Given the description of an element on the screen output the (x, y) to click on. 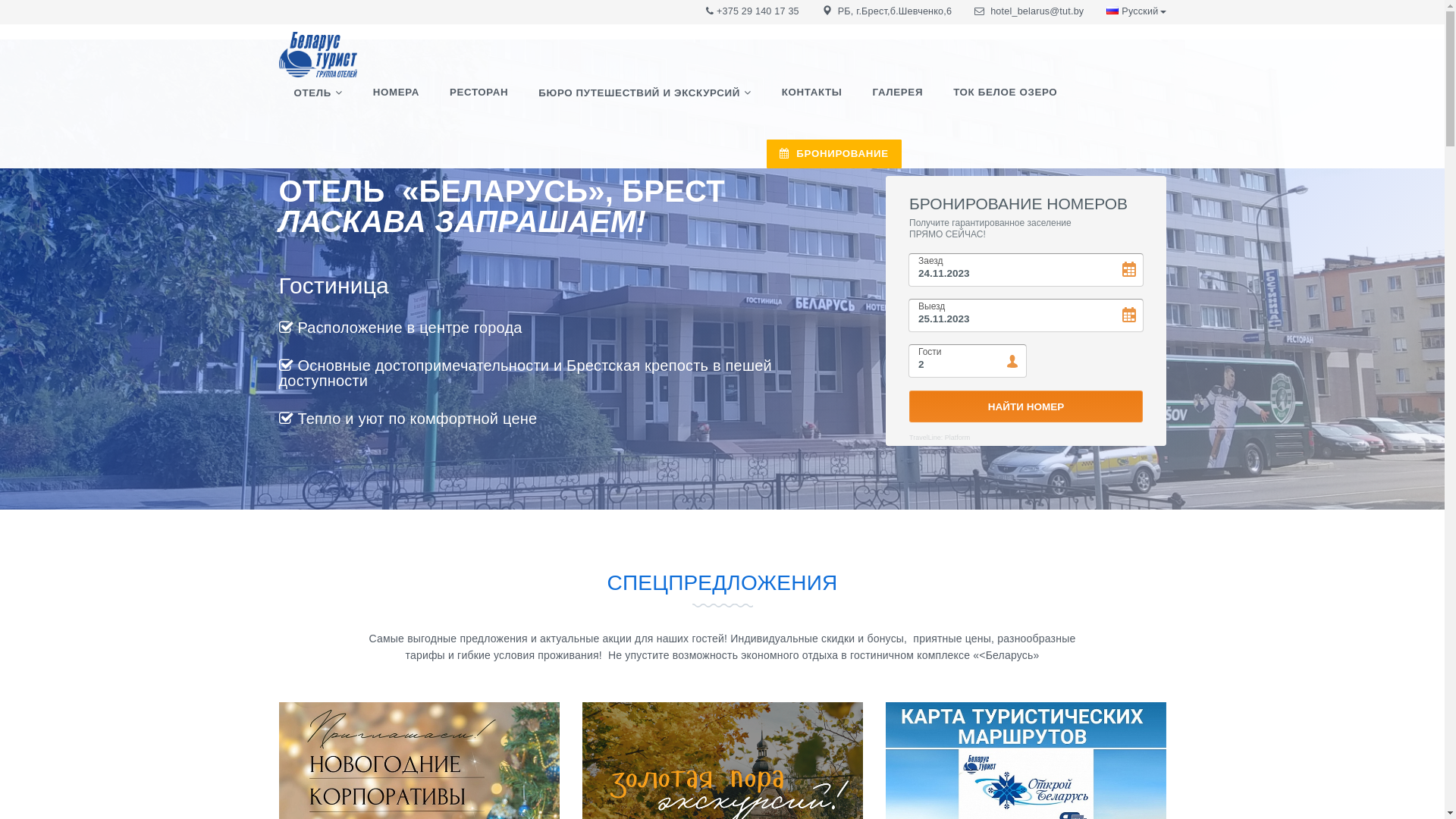
+375 29 140 17 35 Element type: text (757, 11)
hotel_belarus@tut.by Element type: text (1036, 11)
